Given the description of an element on the screen output the (x, y) to click on. 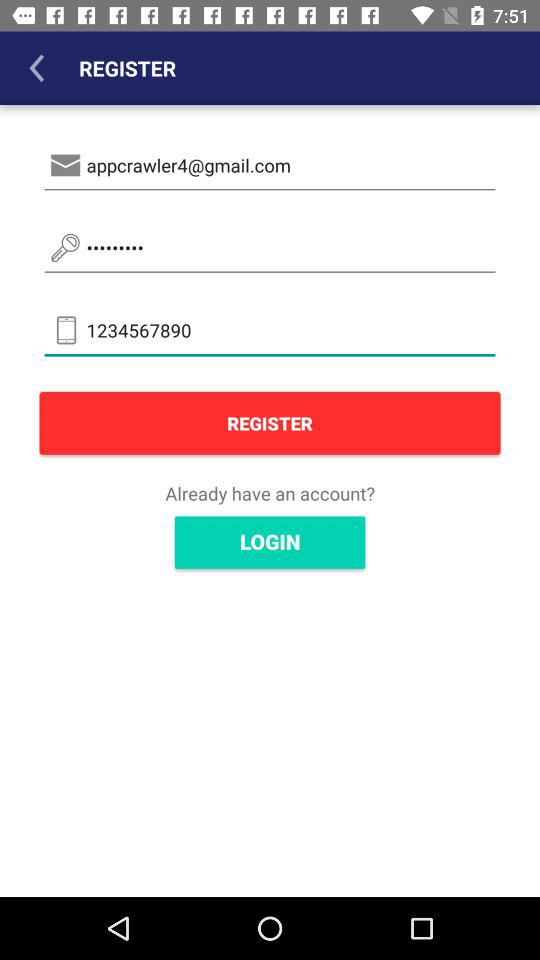
choose the icon below register item (269, 493)
